Given the description of an element on the screen output the (x, y) to click on. 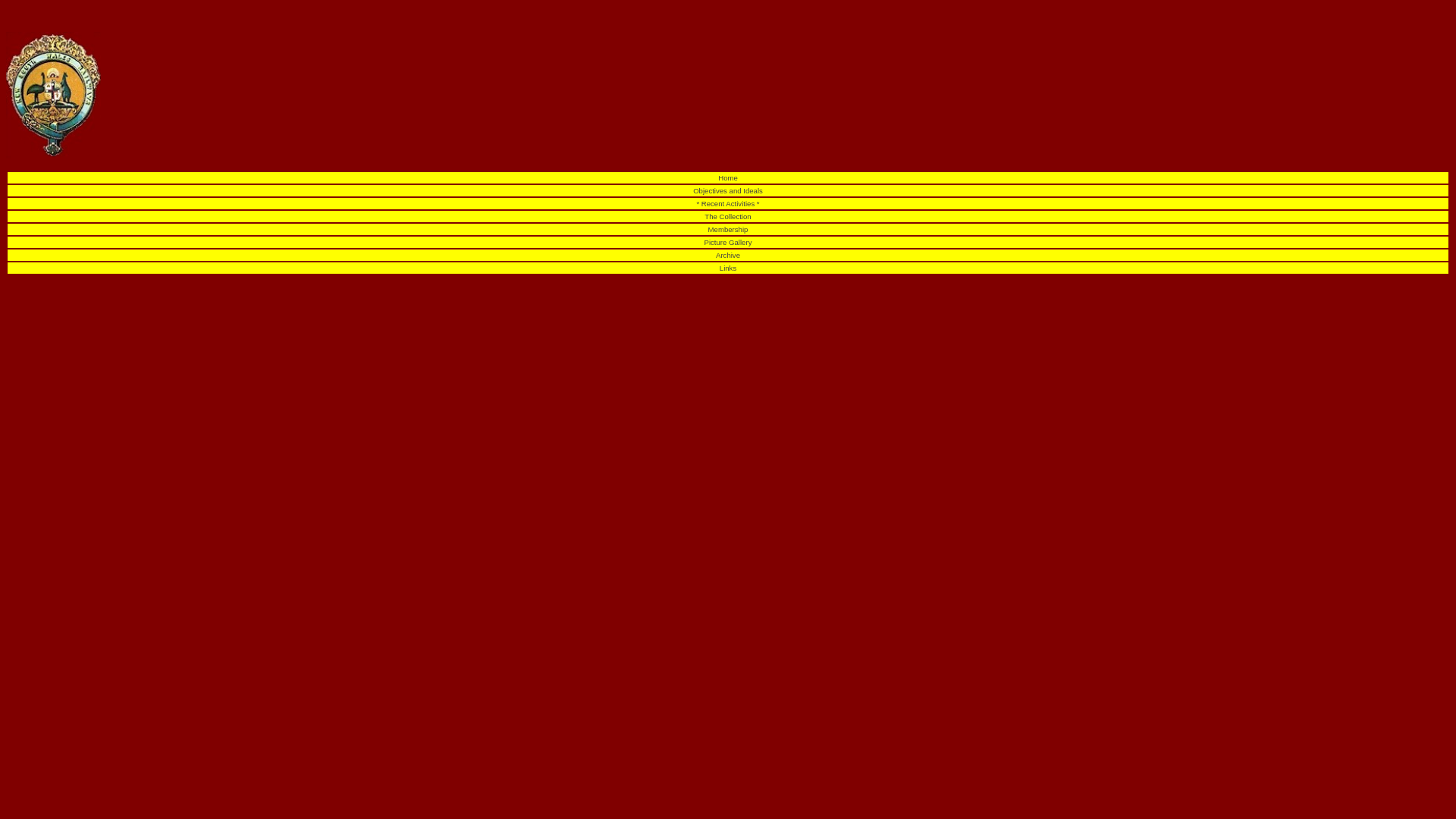
Objectives and Ideals Element type: text (727, 190)
Picture Gallery Element type: text (728, 242)
The Collection Element type: text (727, 216)
Membership Element type: text (728, 229)
* Recent Activities * Element type: text (727, 203)
Home Element type: text (727, 177)
Links Element type: text (727, 267)
Archive Element type: text (727, 255)
